Given the description of an element on the screen output the (x, y) to click on. 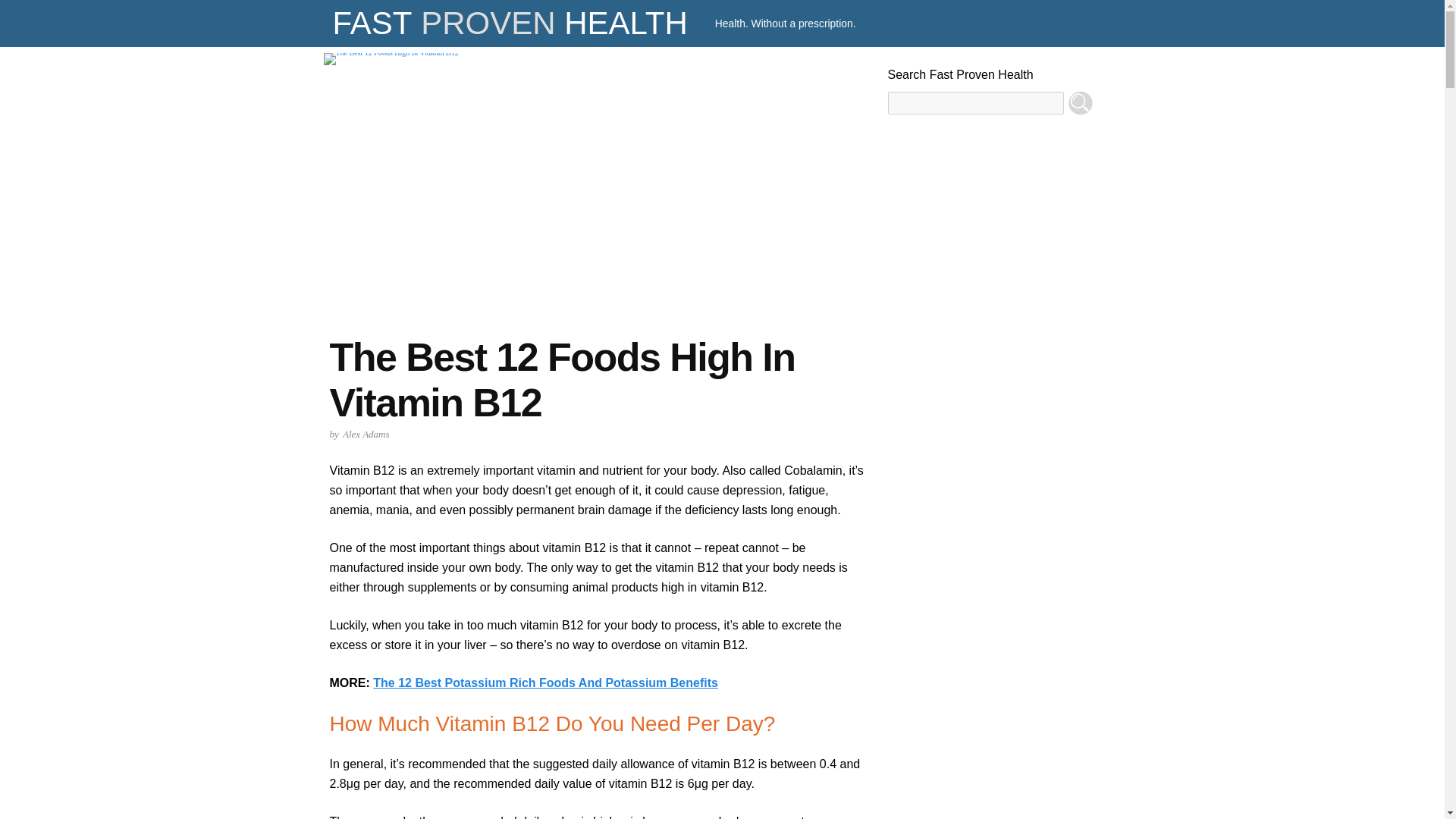
The 12 Best Potassium Rich Foods And Potassium Benefits (544, 682)
Search (1079, 102)
Search (1079, 102)
FAST PROVEN HEALTH (509, 23)
